Given the description of an element on the screen output the (x, y) to click on. 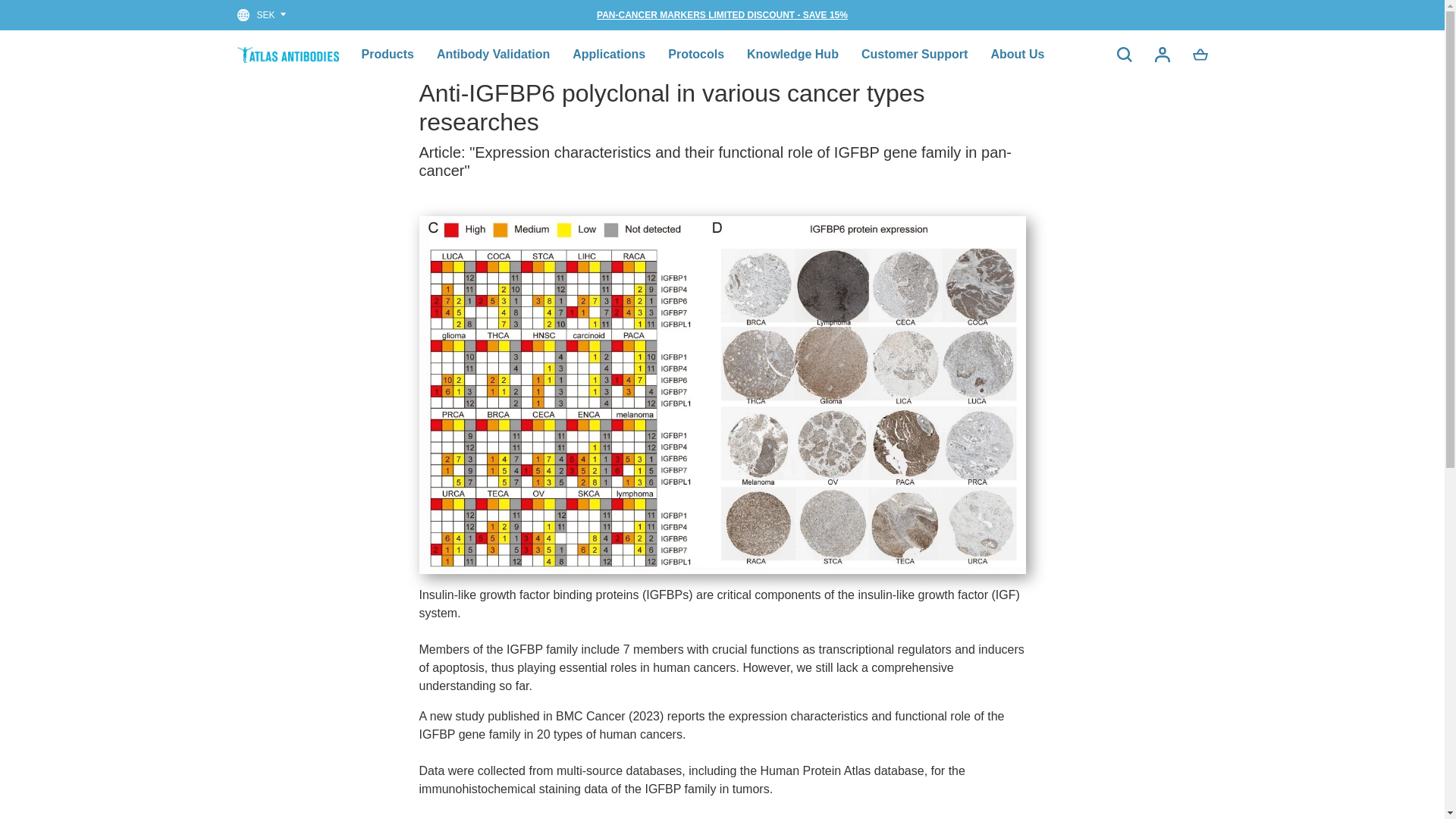
Antibody Validation (493, 54)
SEK (262, 15)
Applications (608, 54)
Protocols (695, 54)
Products (387, 54)
